Given the description of an element on the screen output the (x, y) to click on. 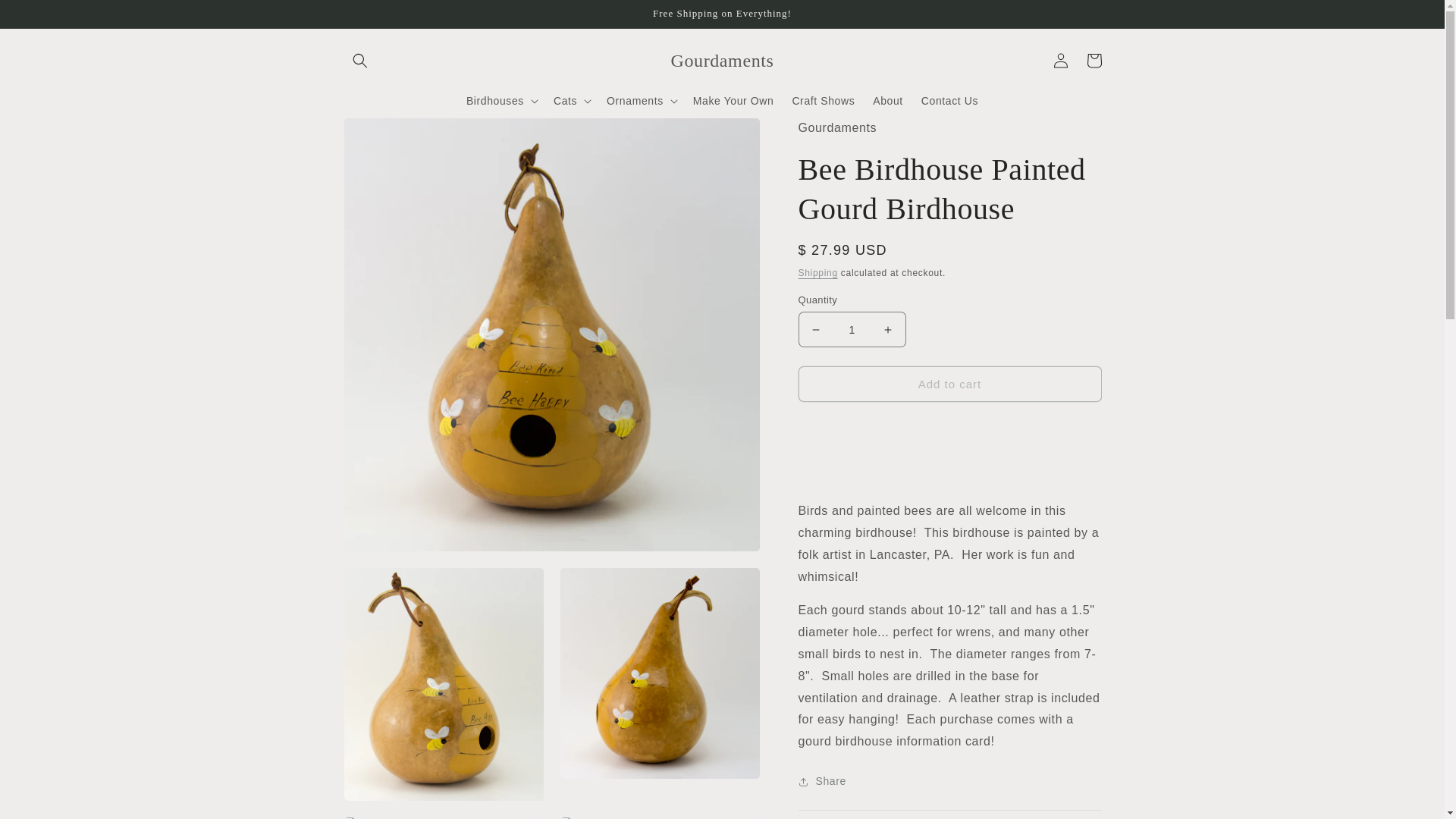
Skip to content (45, 17)
Craft Shows (823, 101)
1 (851, 329)
Make Your Own (733, 101)
Gourdaments (721, 60)
